Given the description of an element on the screen output the (x, y) to click on. 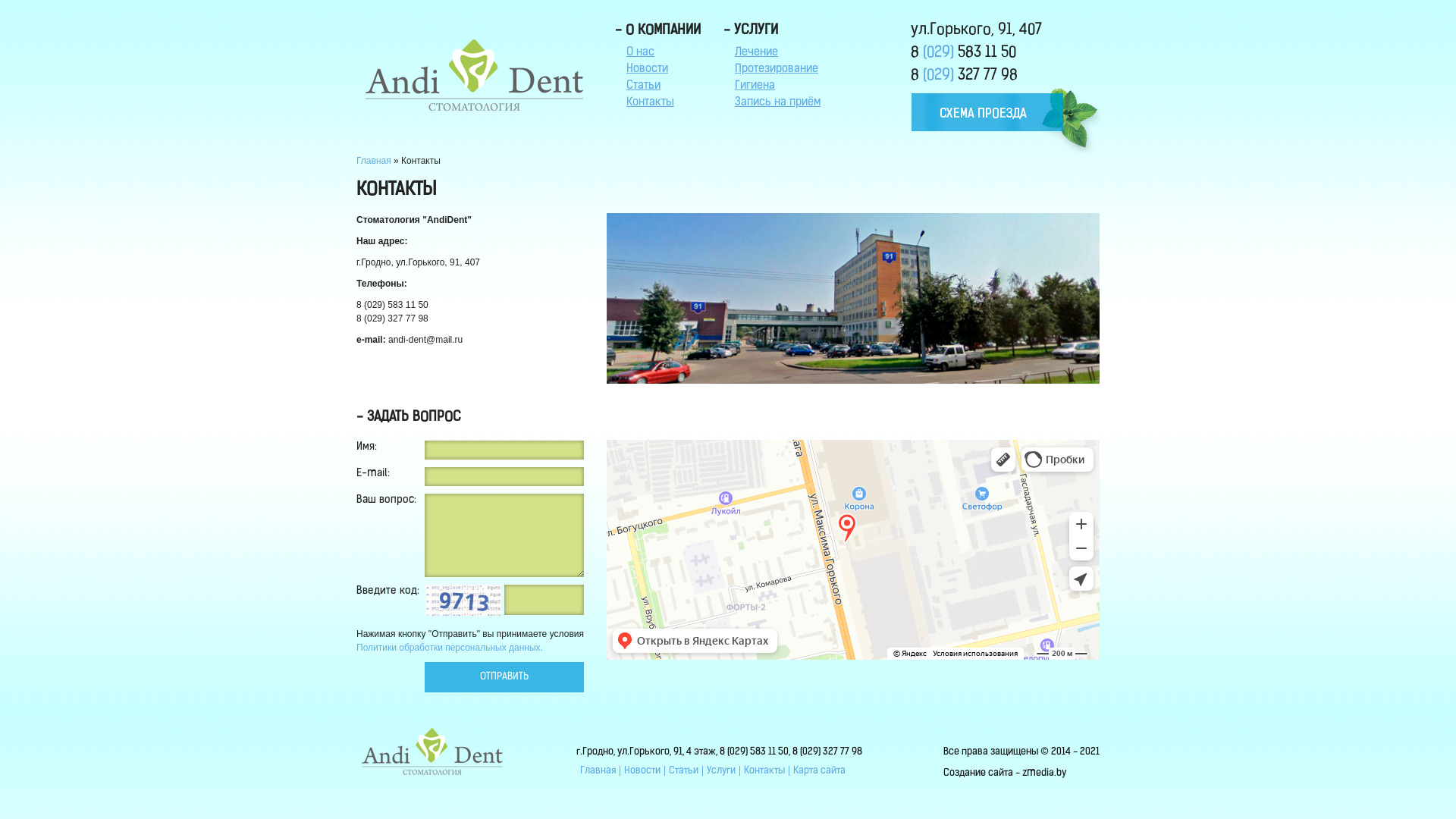
zmedia.by Element type: text (1044, 773)
